Given the description of an element on the screen output the (x, y) to click on. 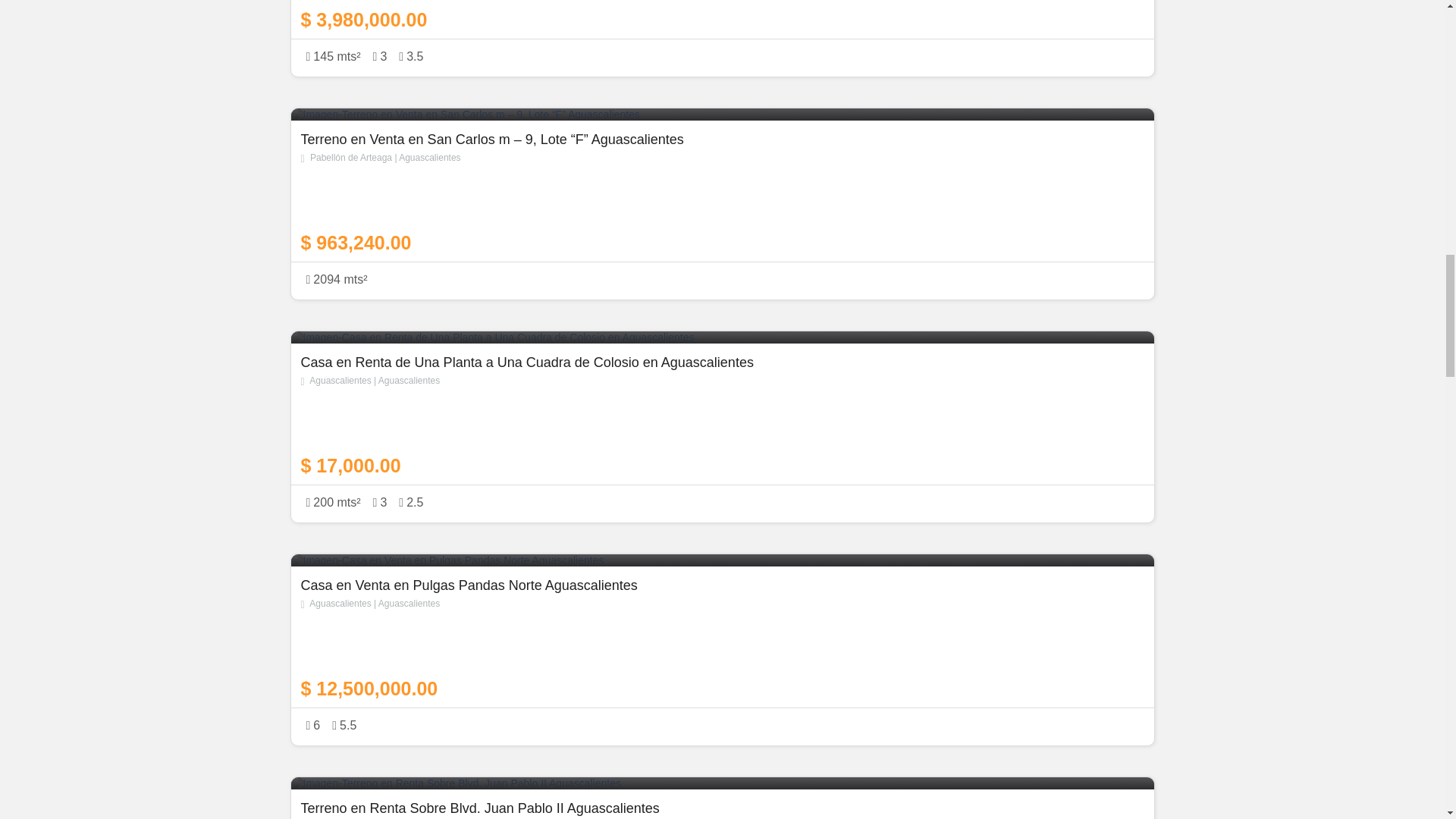
Terreno en Renta Sobre Blvd. Juan Pablo II Aguascalientes (720, 809)
Casa Nueva en Venta en St. Charbel Aguascalientes (720, 15)
Casa en Venta en Pulgas Pandas Norte Aguascalientes (722, 560)
Terreno en Renta Sobre Blvd. Juan Pablo II Aguascalientes (722, 783)
Casa Nueva en Venta en St. Charbel Aguascalientes (722, 38)
Casa en Venta en Pulgas Pandas Norte Aguascalientes (720, 639)
